Given the description of an element on the screen output the (x, y) to click on. 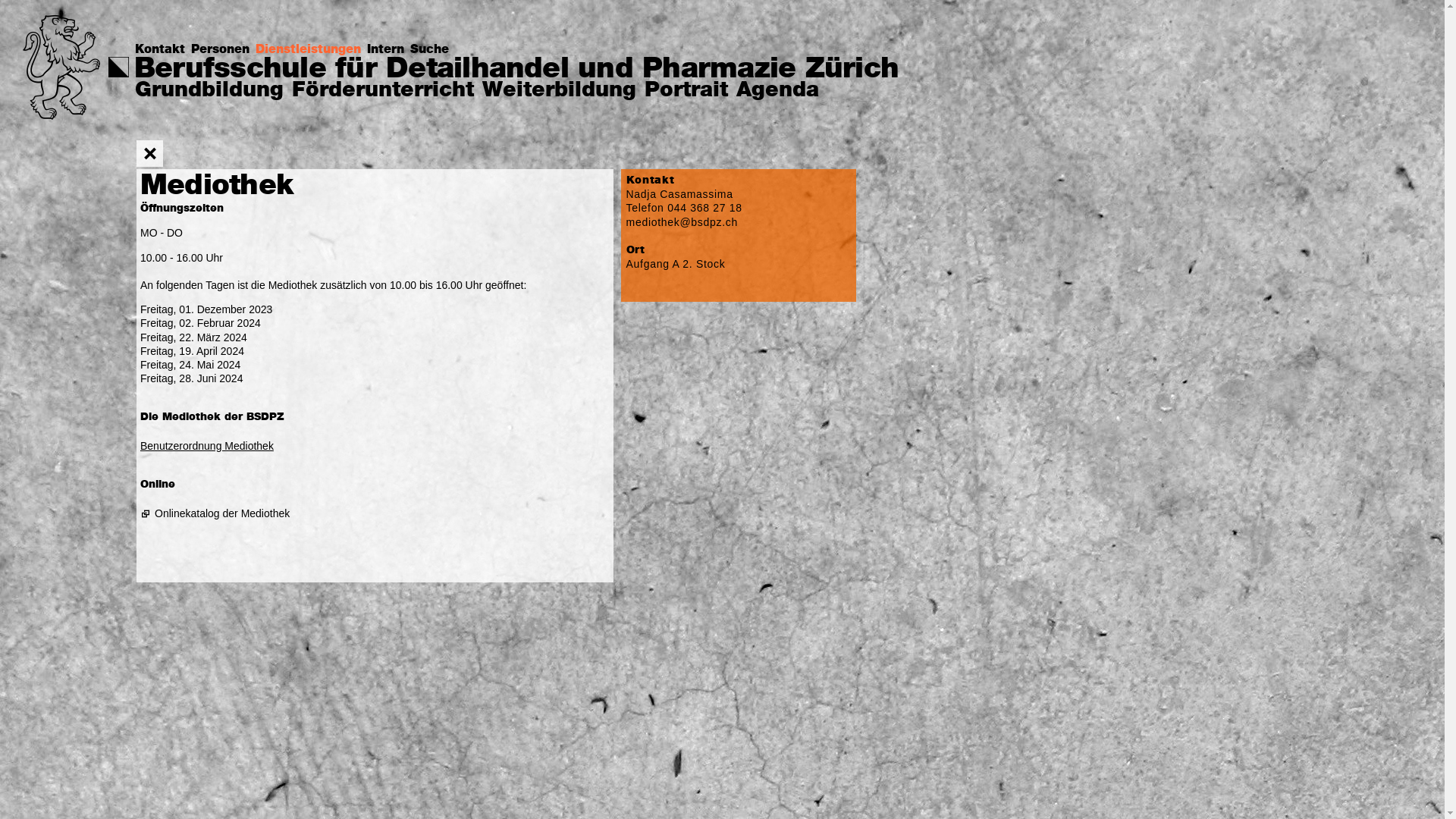
Kontakt Element type: text (162, 49)
mediothek@bsdpz.ch Element type: text (681, 222)
Dienstleistungen Element type: text (311, 49)
Benutzerordnung Mediothek Element type: text (206, 445)
Personen Element type: text (223, 49)
Weiterbildung Element type: text (559, 90)
Portrait Element type: text (686, 90)
Suche Element type: text (432, 49)
Onlinekatalog der Mediothek Element type: text (222, 513)
Intern Element type: text (388, 49)
Agenda Element type: text (777, 90)
Grundbildung Element type: text (208, 90)
